Given the description of an element on the screen output the (x, y) to click on. 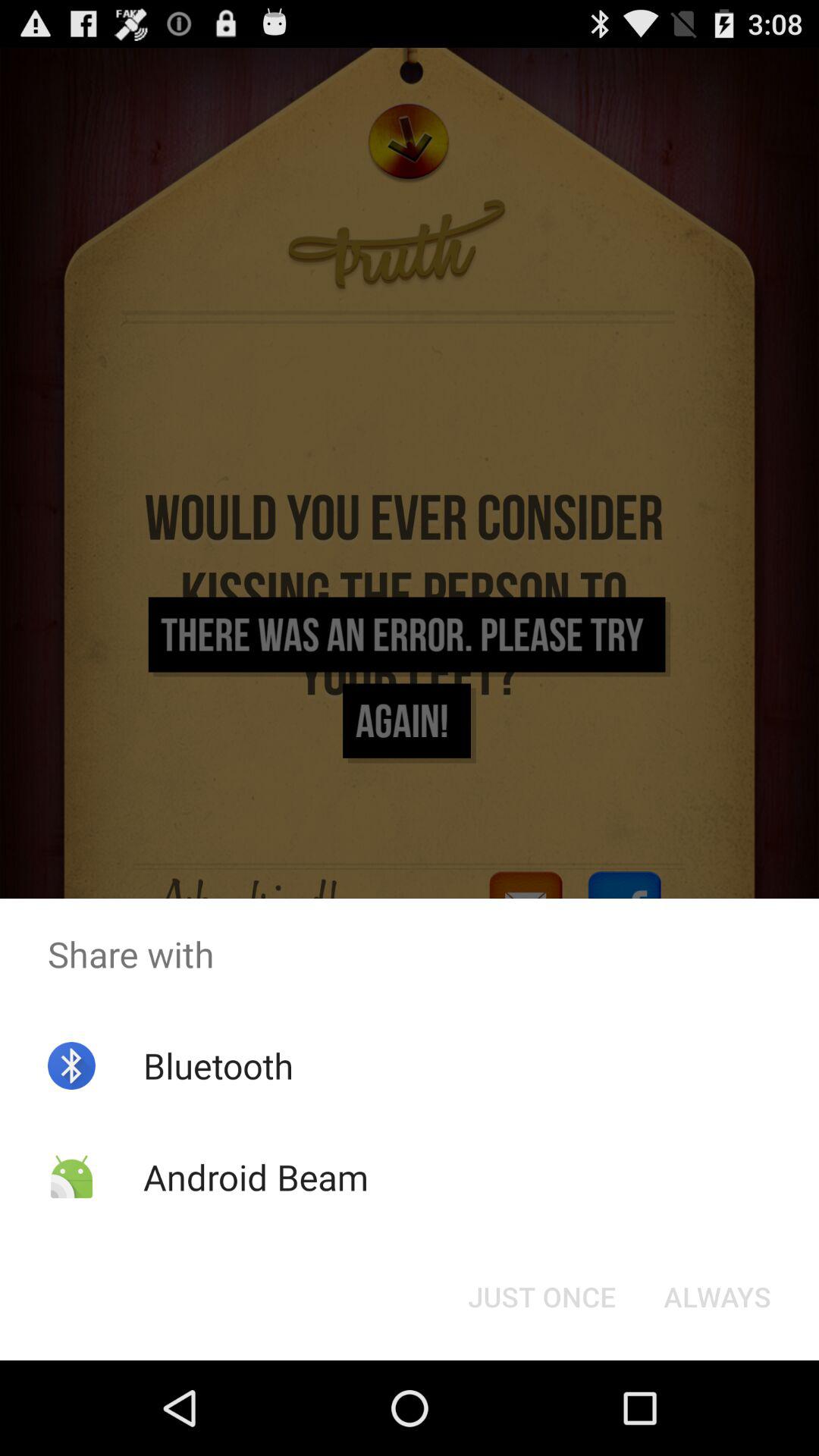
open app below share with item (717, 1296)
